Given the description of an element on the screen output the (x, y) to click on. 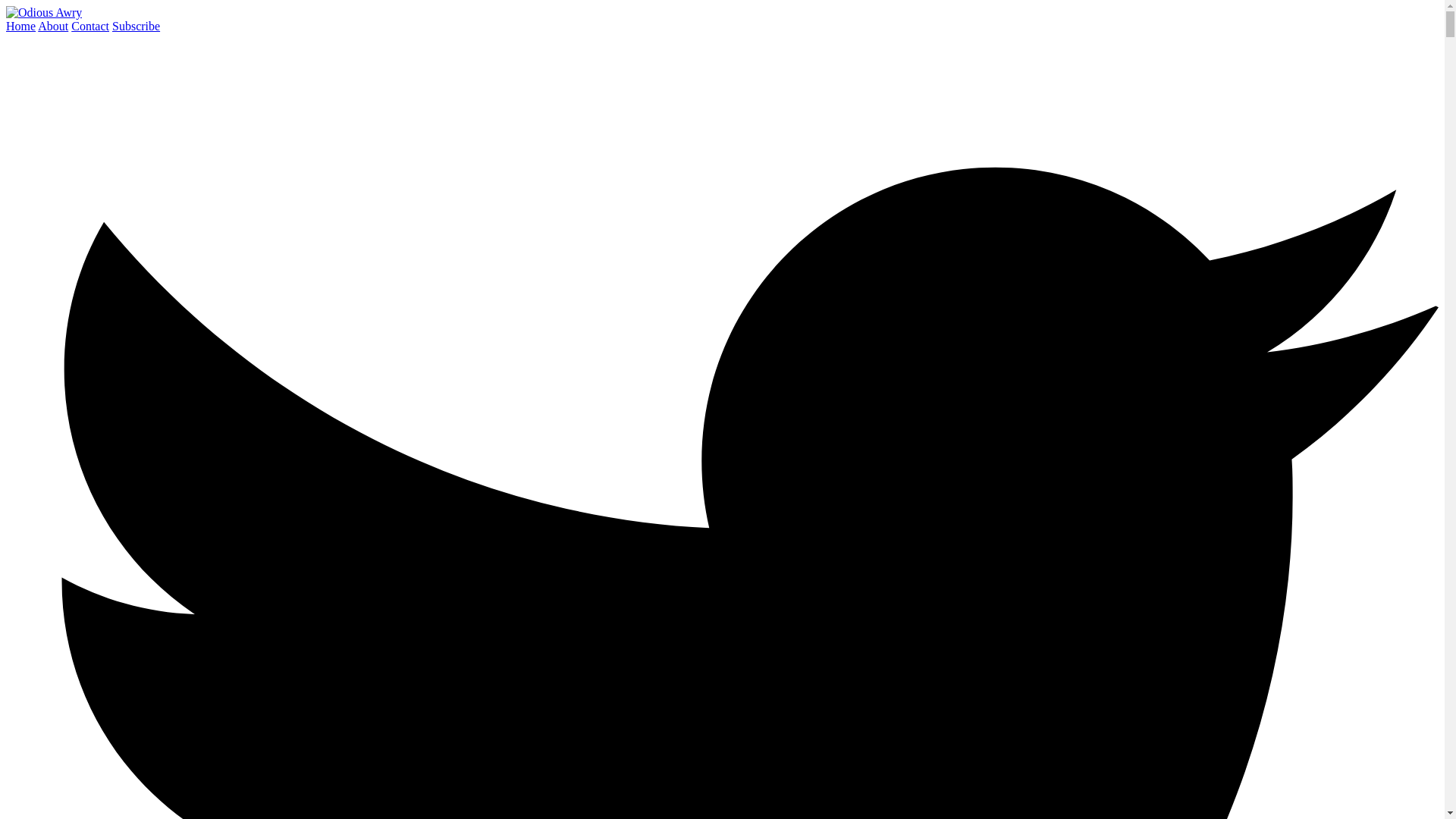
Subscribe (136, 25)
Contact (90, 25)
About (52, 25)
Home (19, 25)
